Given the description of an element on the screen output the (x, y) to click on. 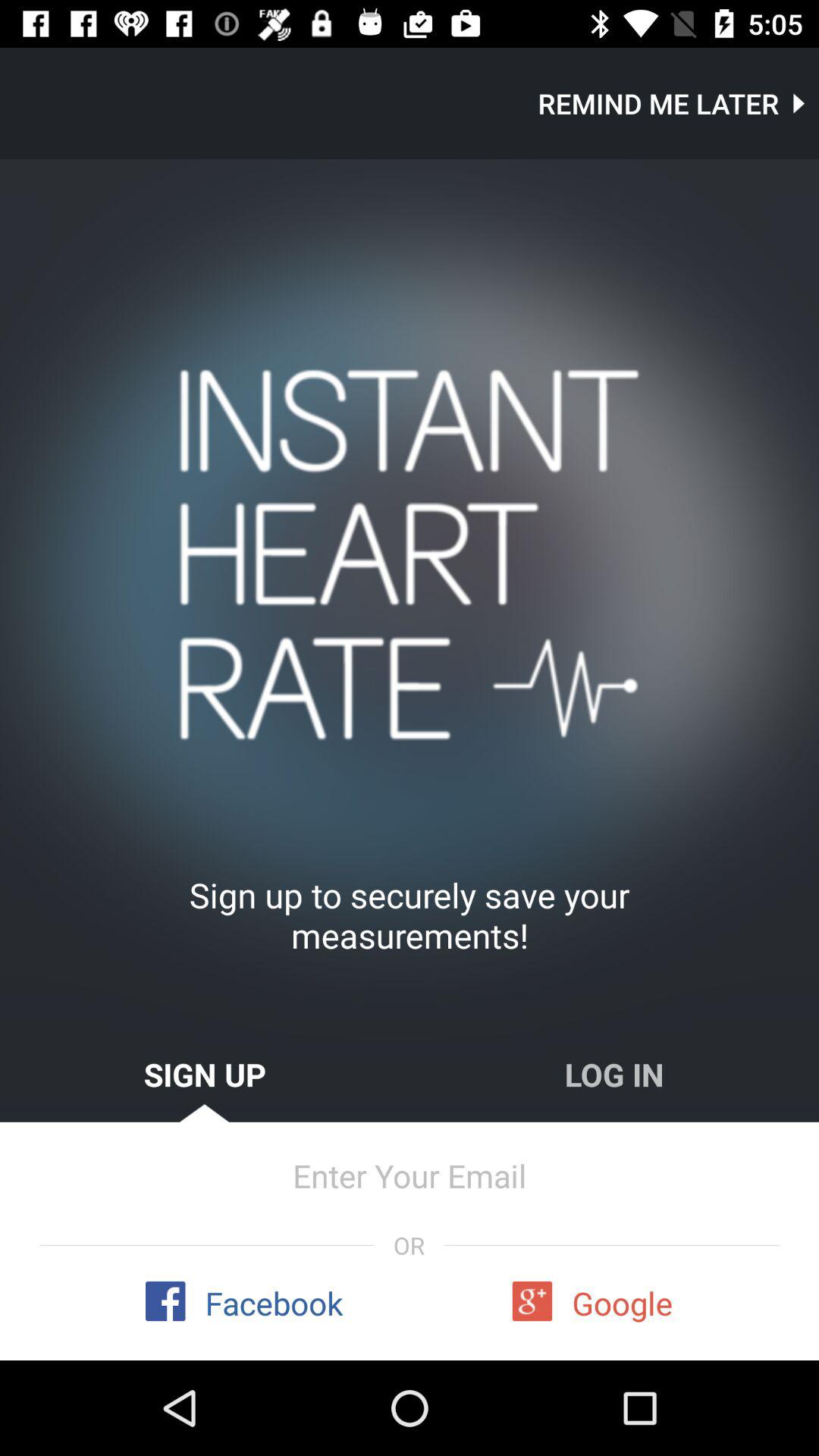
scroll to the log in (614, 1074)
